Given the description of an element on the screen output the (x, y) to click on. 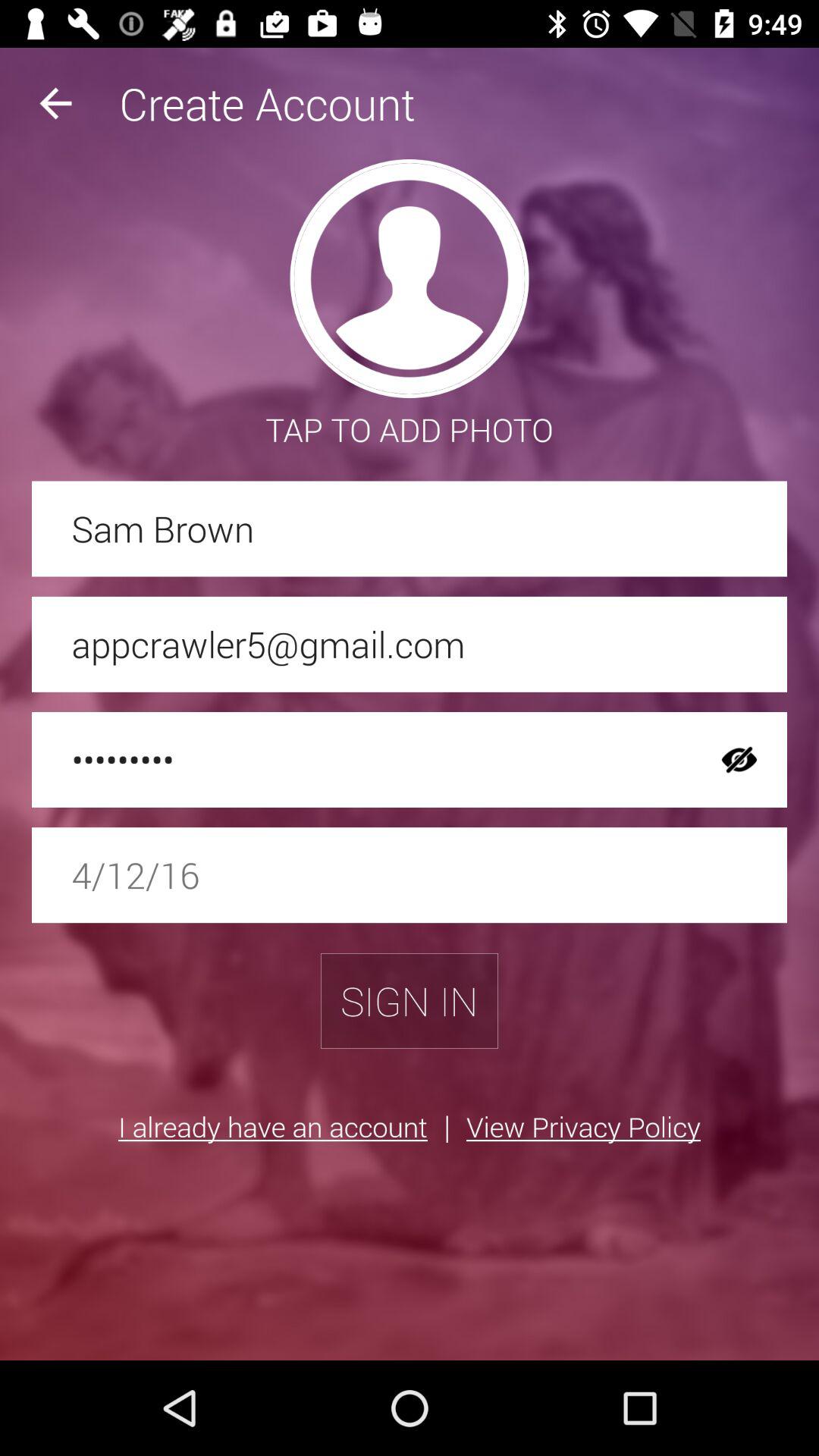
choose sign in icon (409, 1000)
